Given the description of an element on the screen output the (x, y) to click on. 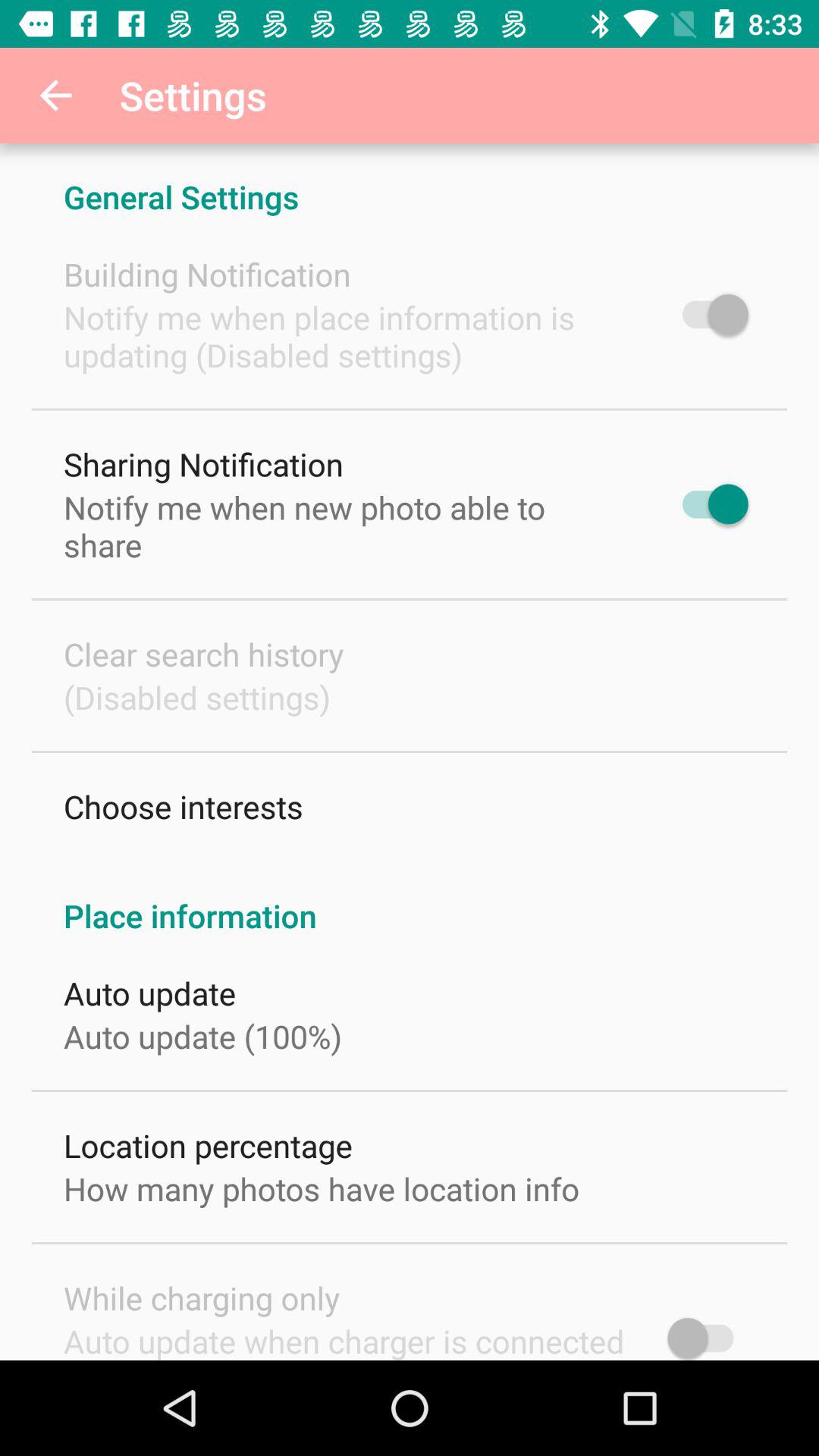
turn off icon below the auto update (100%) icon (207, 1145)
